Given the description of an element on the screen output the (x, y) to click on. 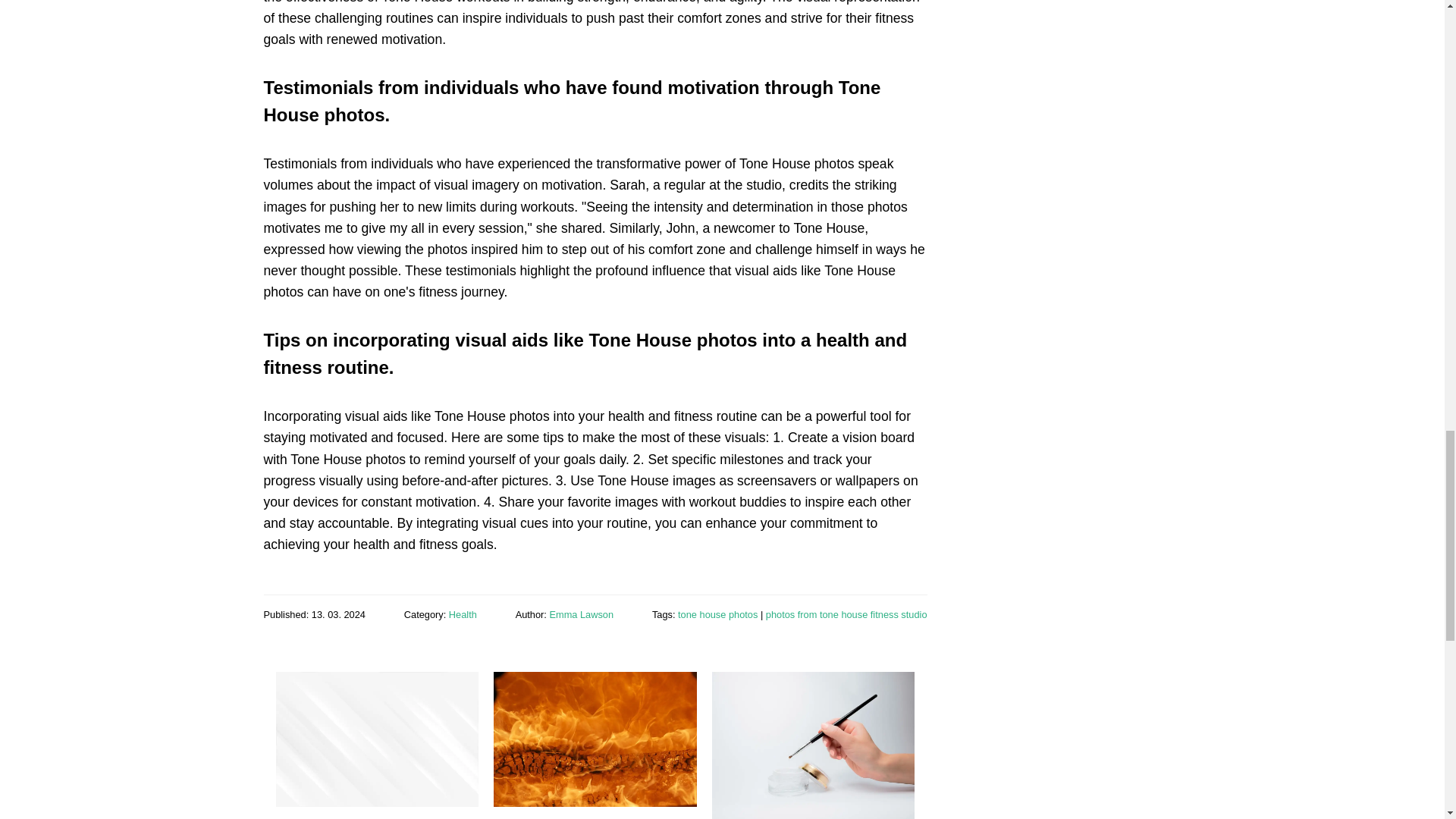
Health (462, 614)
photos from tone house fitness studio (846, 614)
Emma Lawson (580, 614)
tone house photos (717, 614)
